Given the description of an element on the screen output the (x, y) to click on. 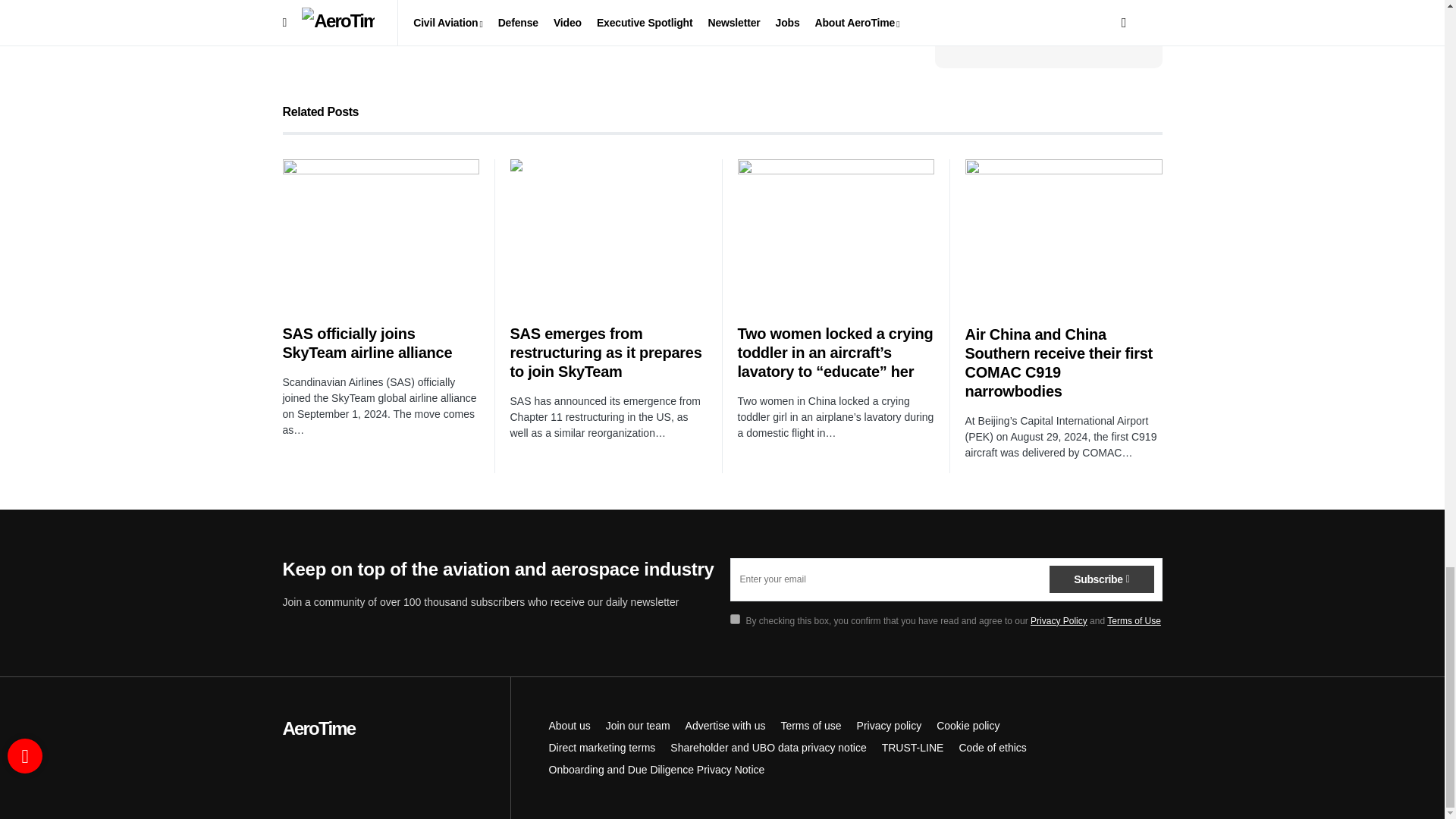
SAS officially joins SkyTeam airline alliance (380, 232)
on (734, 619)
